Given the description of an element on the screen output the (x, y) to click on. 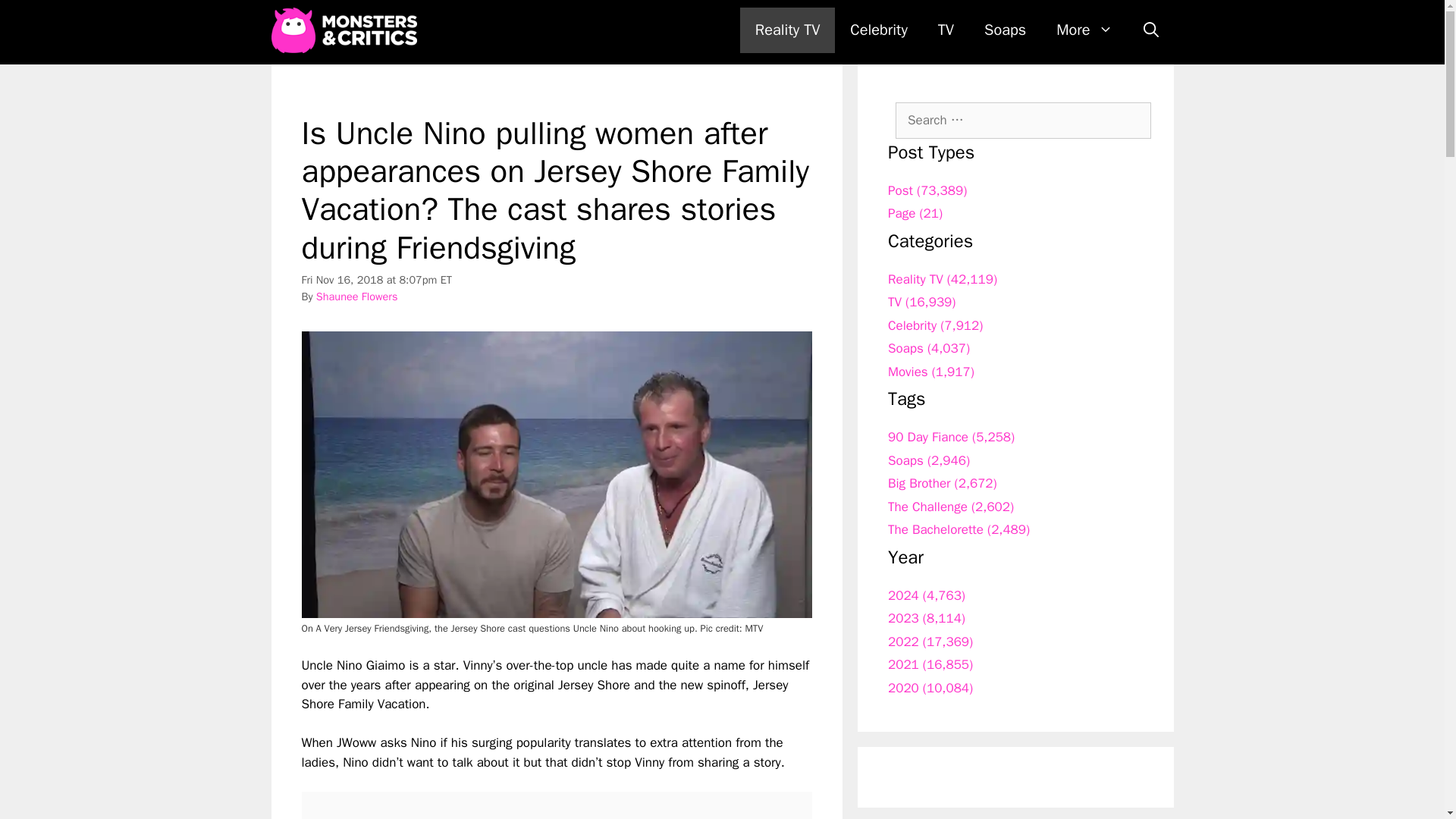
Celebrity (877, 30)
View all posts by Shaunee Flowers (356, 296)
Reality TV (787, 30)
Search for: (1023, 120)
Soaps (1005, 30)
Monsters and Critics (347, 30)
Shaunee Flowers (356, 296)
TV (946, 30)
Monsters and Critics (343, 30)
More (1083, 30)
